Given the description of an element on the screen output the (x, y) to click on. 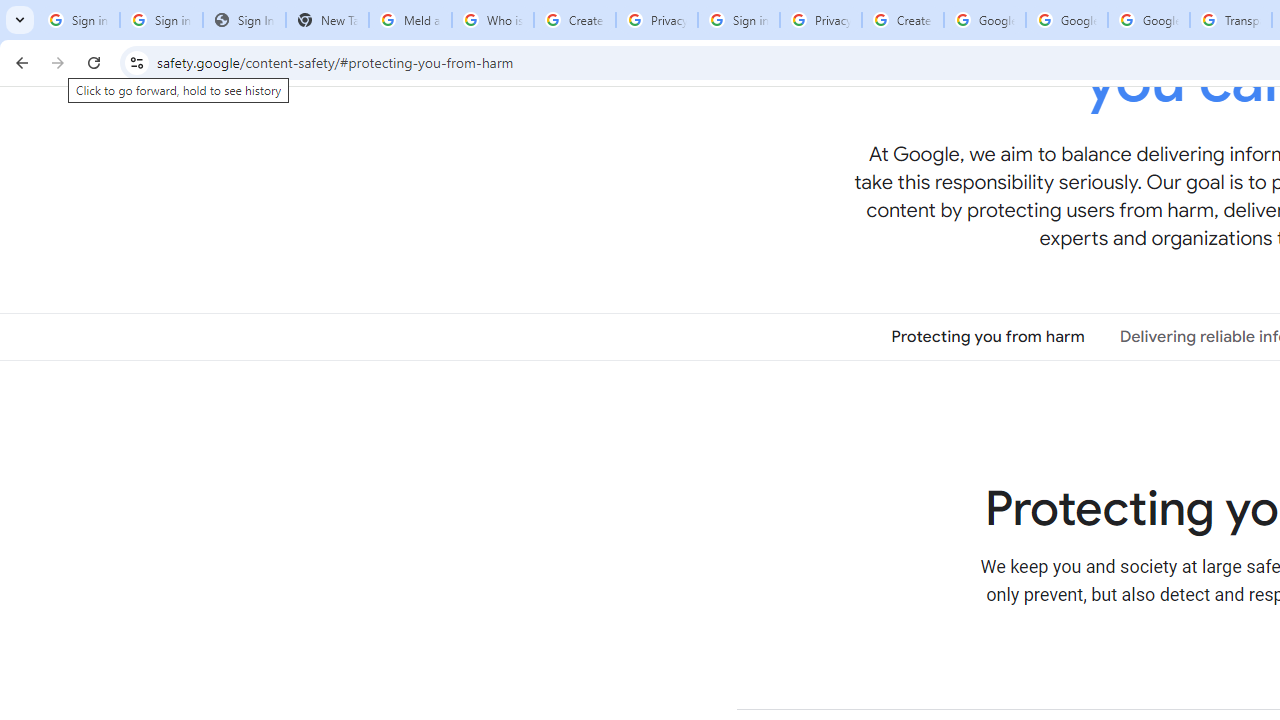
Protecting you from harm (987, 336)
Sign in - Google Accounts (161, 20)
Who is my administrator? - Google Account Help (492, 20)
Create your Google Account (574, 20)
Sign in - Google Accounts (78, 20)
Create your Google Account (902, 20)
